Given the description of an element on the screen output the (x, y) to click on. 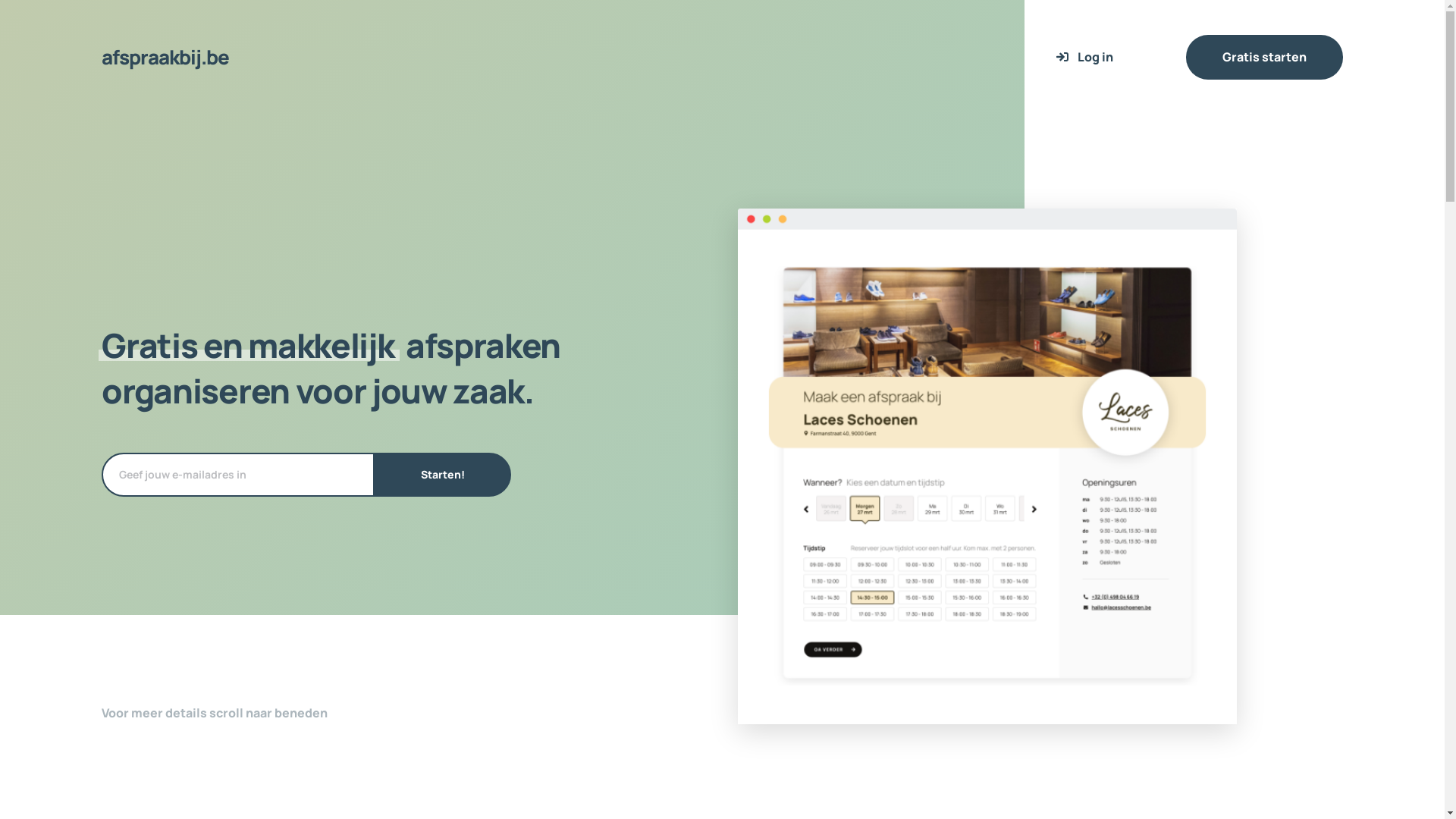
Gratis starten Element type: text (1264, 56)
Voor meer details scroll naar beneden Element type: text (214, 712)
afspraakbij.be Element type: text (164, 56)
Starten! Element type: text (442, 474)
Log in Element type: text (1084, 56)
